Given the description of an element on the screen output the (x, y) to click on. 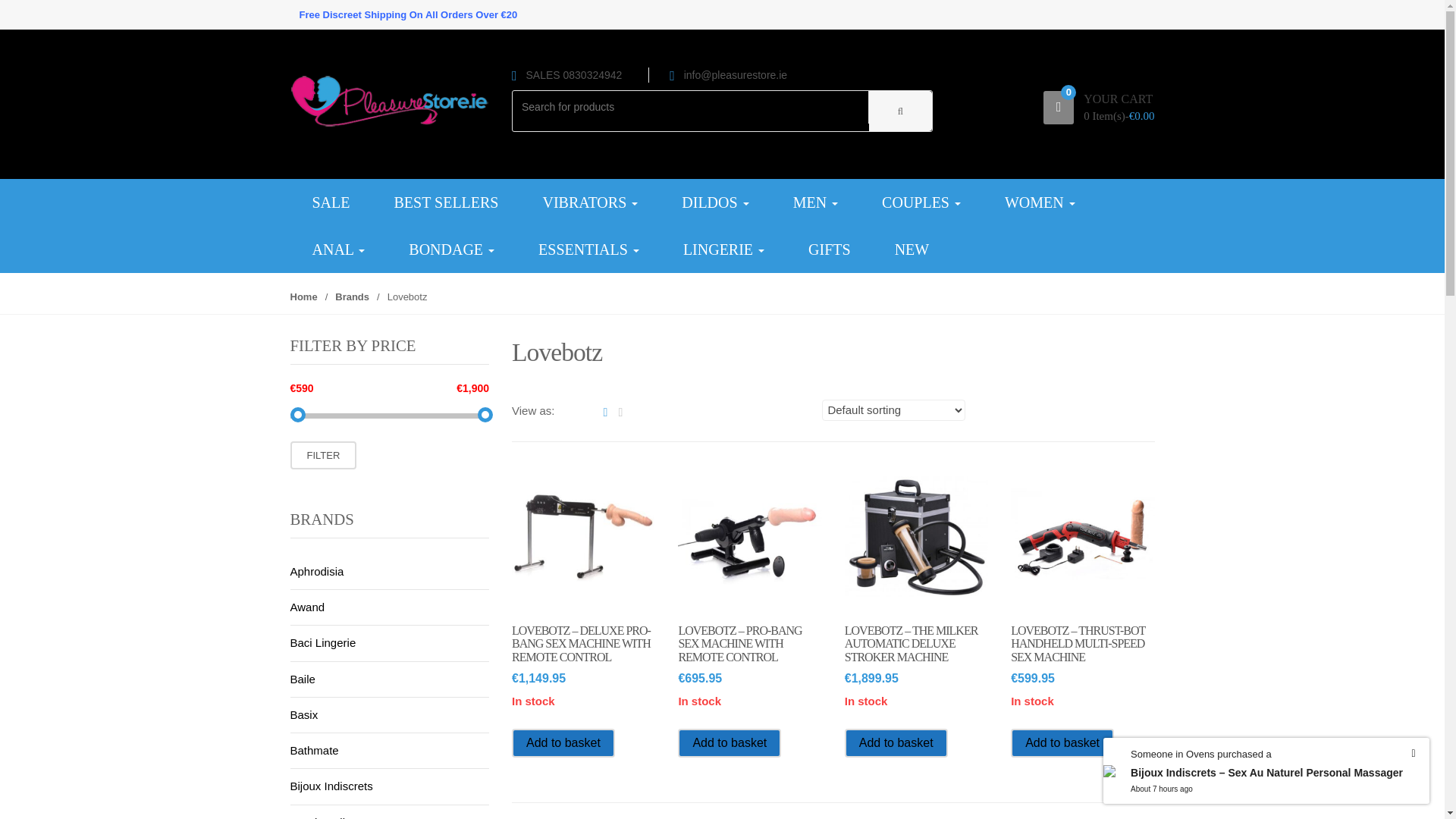
DILDOS (714, 202)
Sale (330, 202)
Vibrators (589, 202)
VIBRATORS (589, 202)
BEST SELLERS (445, 202)
SALE (330, 202)
Best Sellers (445, 202)
